Given the description of an element on the screen output the (x, y) to click on. 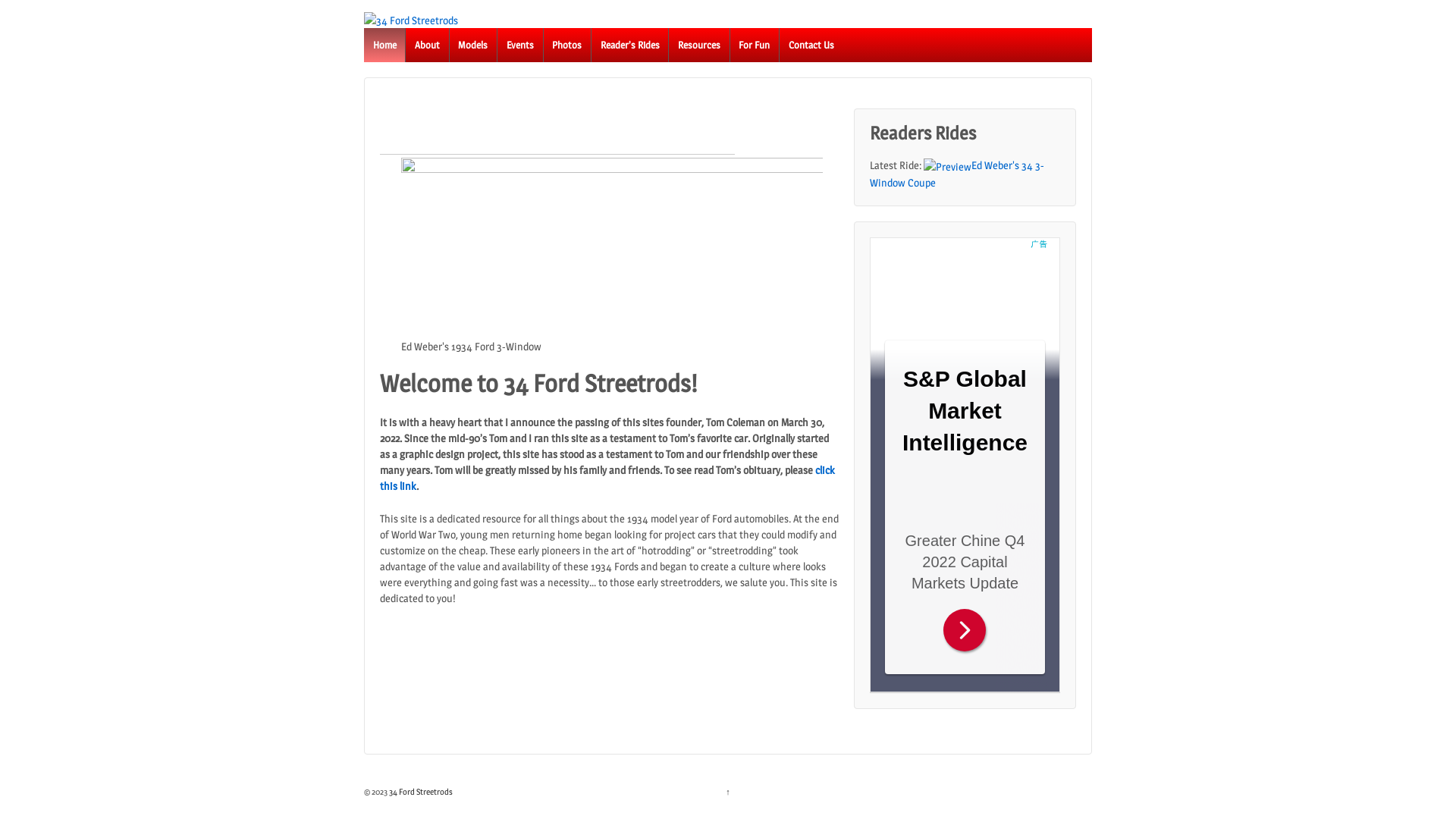
Events Element type: text (519, 45)
For Fun Element type: text (753, 45)
About Element type: text (426, 45)
Contact Us Element type: text (810, 45)
Models Element type: text (472, 45)
Ed Weber's 34 3-Window Coupe Element type: text (956, 173)
Advertisement Element type: hover (964, 464)
Home Element type: text (384, 45)
34 Ford Streetrods Element type: text (419, 791)
Photos Element type: text (566, 45)
click this link Element type: text (606, 477)
Advertisement Element type: hover (556, 130)
Resources Element type: text (698, 45)
